Given the description of an element on the screen output the (x, y) to click on. 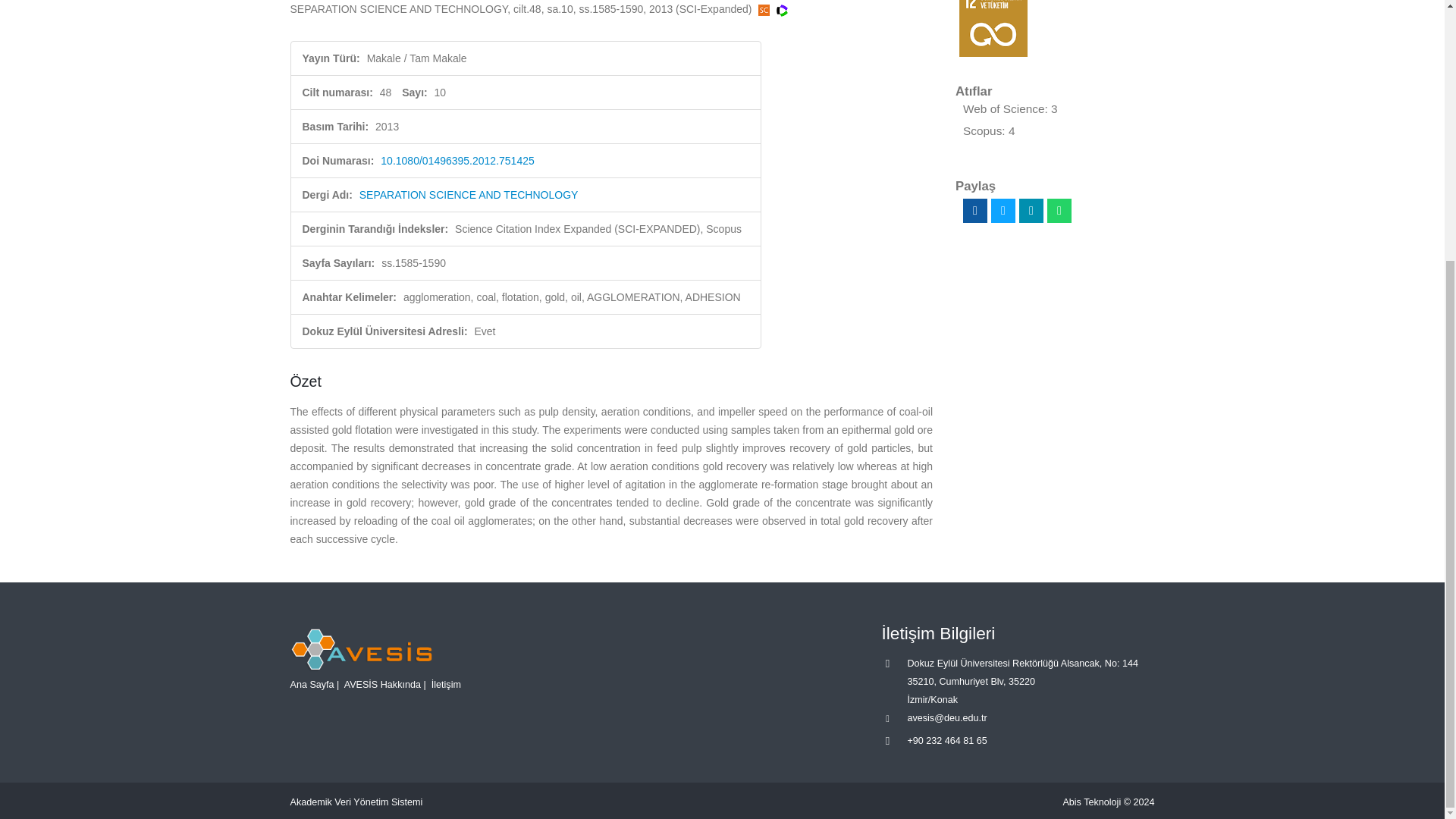
Abis Teknoloji (1091, 801)
Ana Sayfa (311, 684)
SEPARATION SCIENCE AND TECHNOLOGY (468, 194)
